Given the description of an element on the screen output the (x, y) to click on. 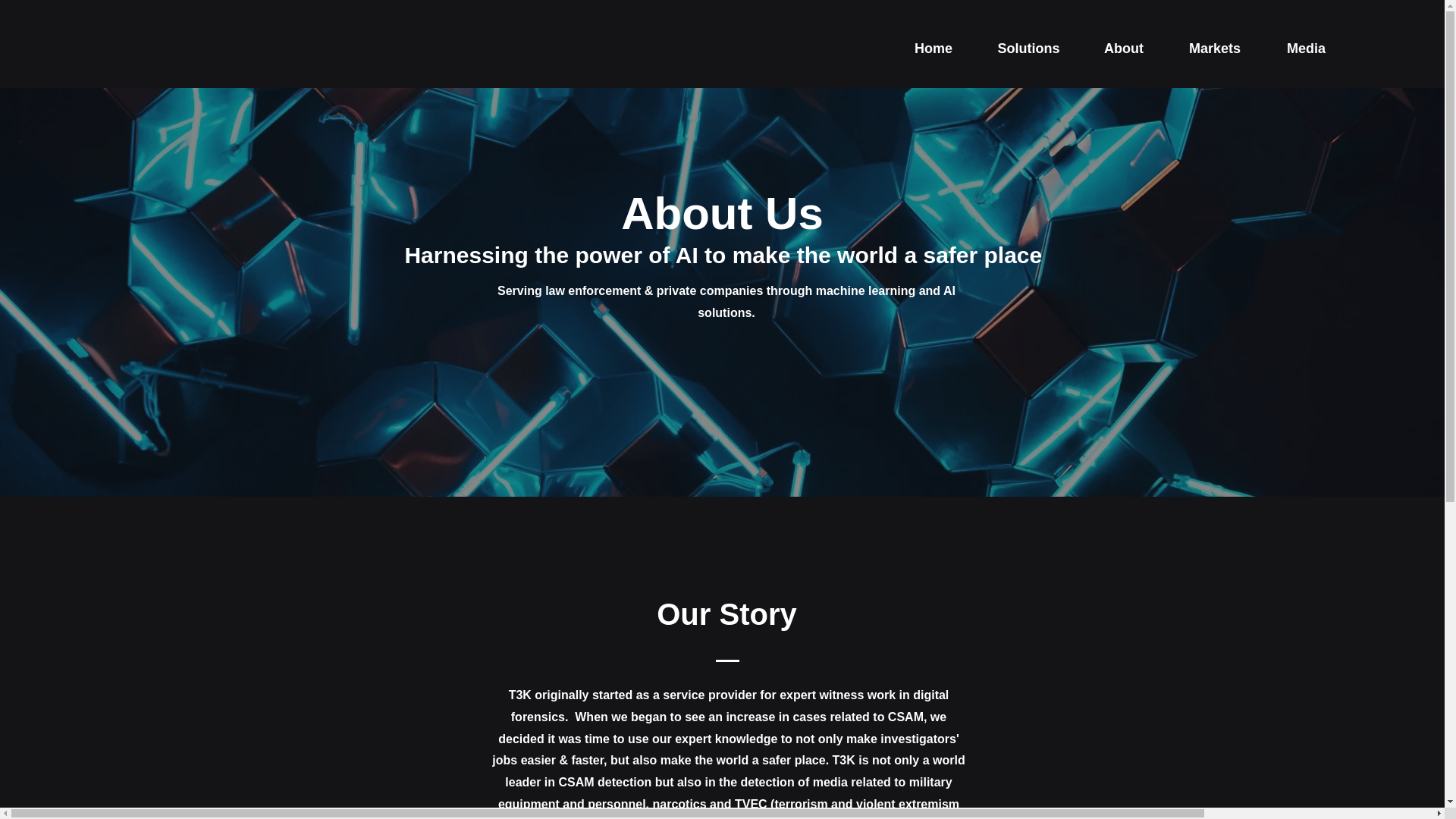
Home (933, 48)
Solutions (1028, 48)
Markets (1214, 48)
Media (1305, 48)
About (1123, 48)
